Given the description of an element on the screen output the (x, y) to click on. 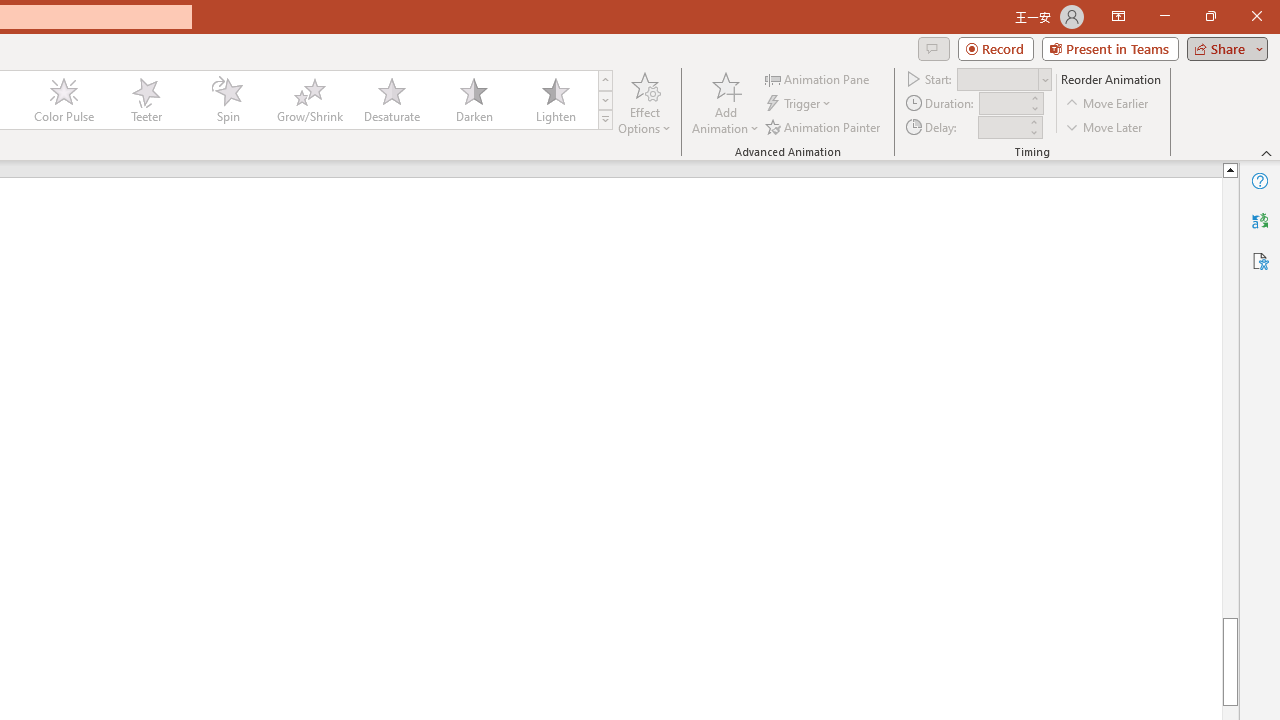
Animation Painter (824, 126)
Effect Options (644, 102)
Trigger (799, 103)
Animation Delay (1002, 127)
Darken (473, 100)
Animation Pane (818, 78)
Grow/Shrink (309, 100)
Teeter (145, 100)
Desaturate (391, 100)
Color Pulse (63, 100)
